Given the description of an element on the screen output the (x, y) to click on. 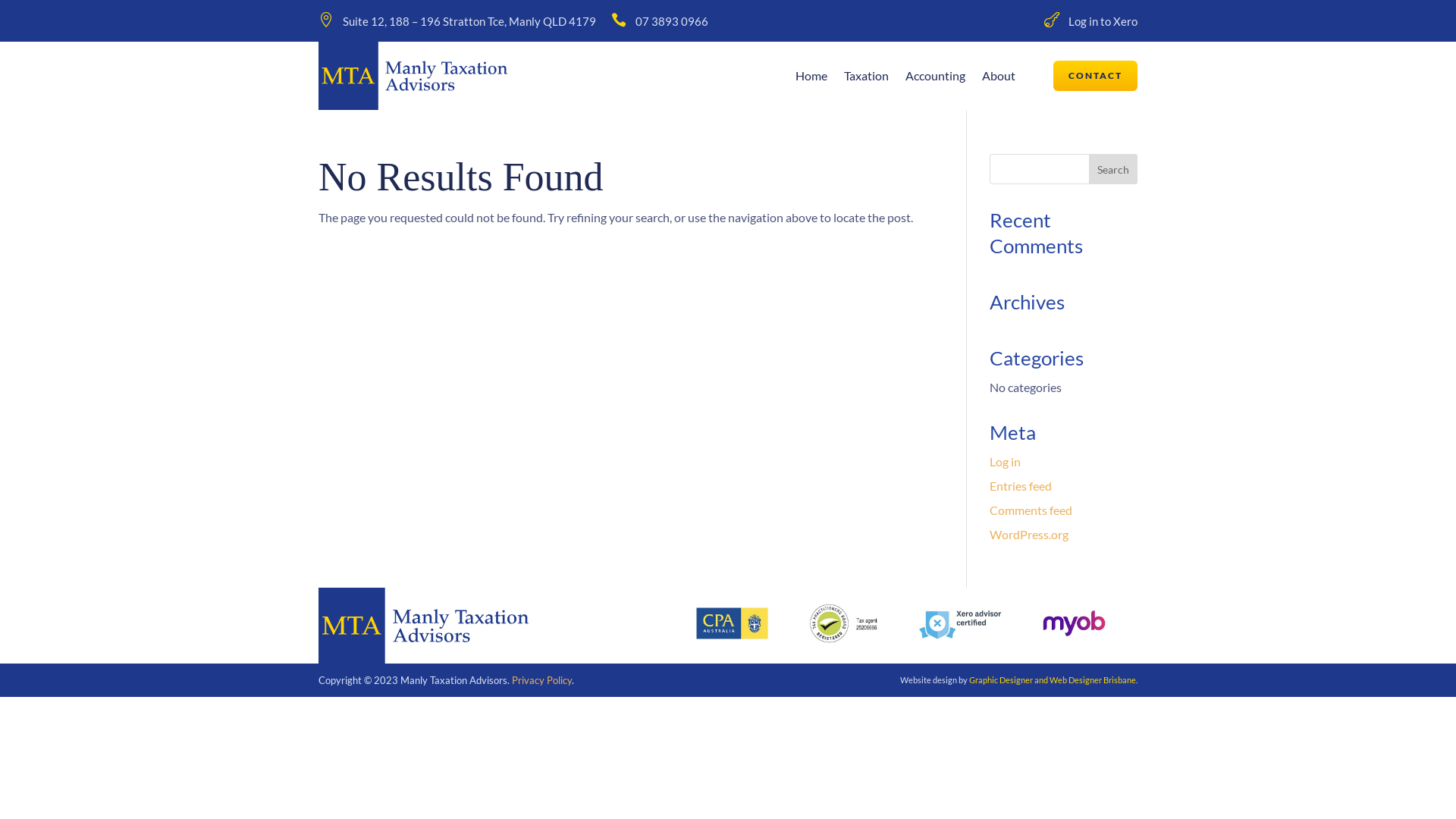
manly-tax-advisors-TPB Element type: hover (845, 623)
Entries feed Element type: text (1020, 485)
Comments feed Element type: text (1030, 509)
Accounting Element type: text (935, 78)
manly-tax-advisors-CPA-Australia Element type: hover (732, 623)
Log in Element type: text (1004, 461)
CONTACT Element type: text (1095, 75)
Home Element type: text (811, 78)
manly-tax-advisors-myob Element type: hover (1074, 623)
About Element type: text (998, 78)
Manly-Taxation-Advisors-Brisbane1 Element type: hover (423, 625)
Taxation Element type: text (866, 78)
manly-tax-advisors-xero Element type: hover (959, 623)
Manly-Taxation-Advisors-Brisbane1 Element type: hover (412, 75)
Graphic Designer and Web Designer Brisbane Element type: text (1052, 679)
Privacy Policy Element type: text (541, 680)
Search Element type: text (1112, 168)
WordPress.org Element type: text (1028, 534)
